Given the description of an element on the screen output the (x, y) to click on. 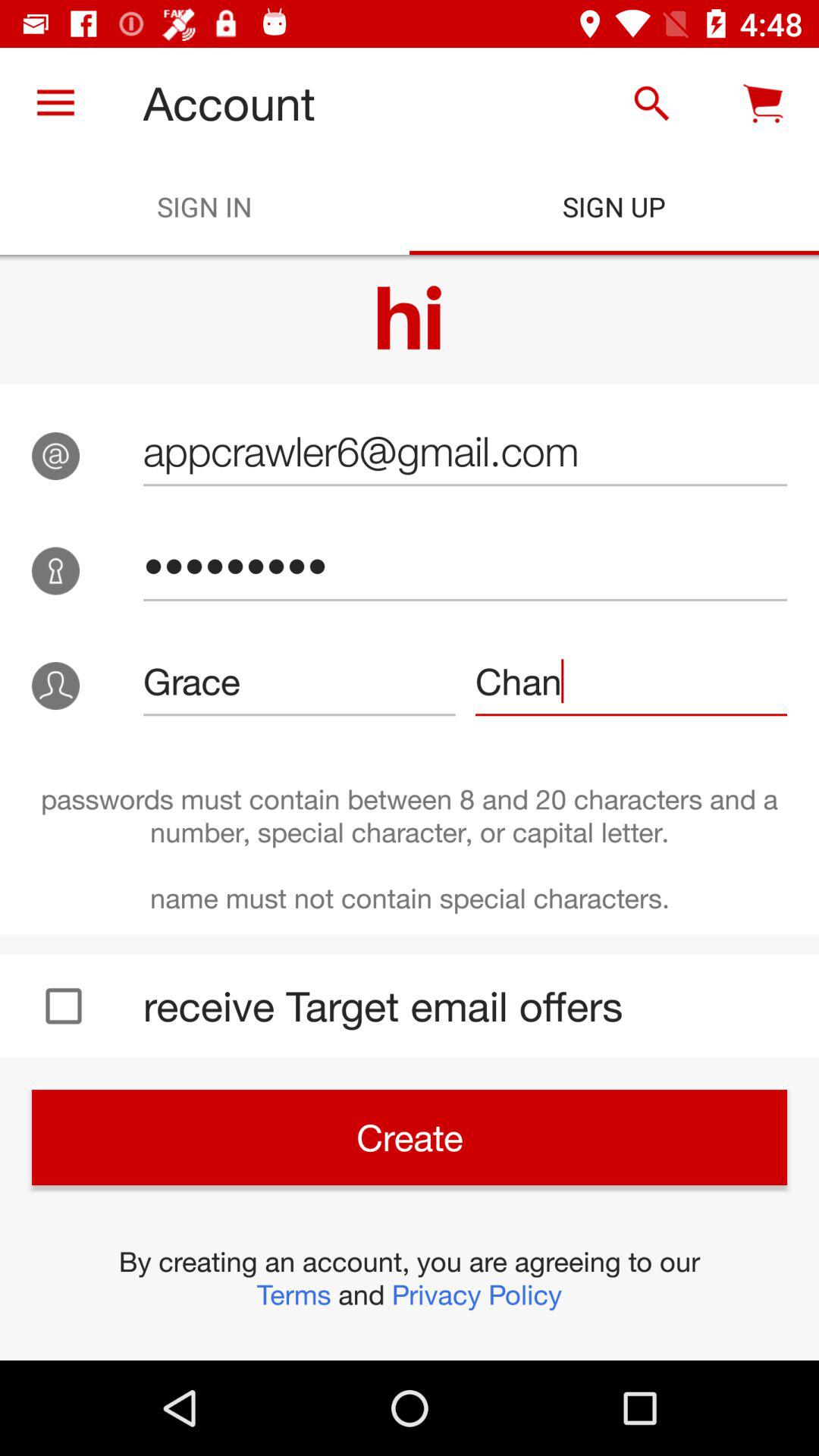
turn off the icon to the right of the account (651, 103)
